Given the description of an element on the screen output the (x, y) to click on. 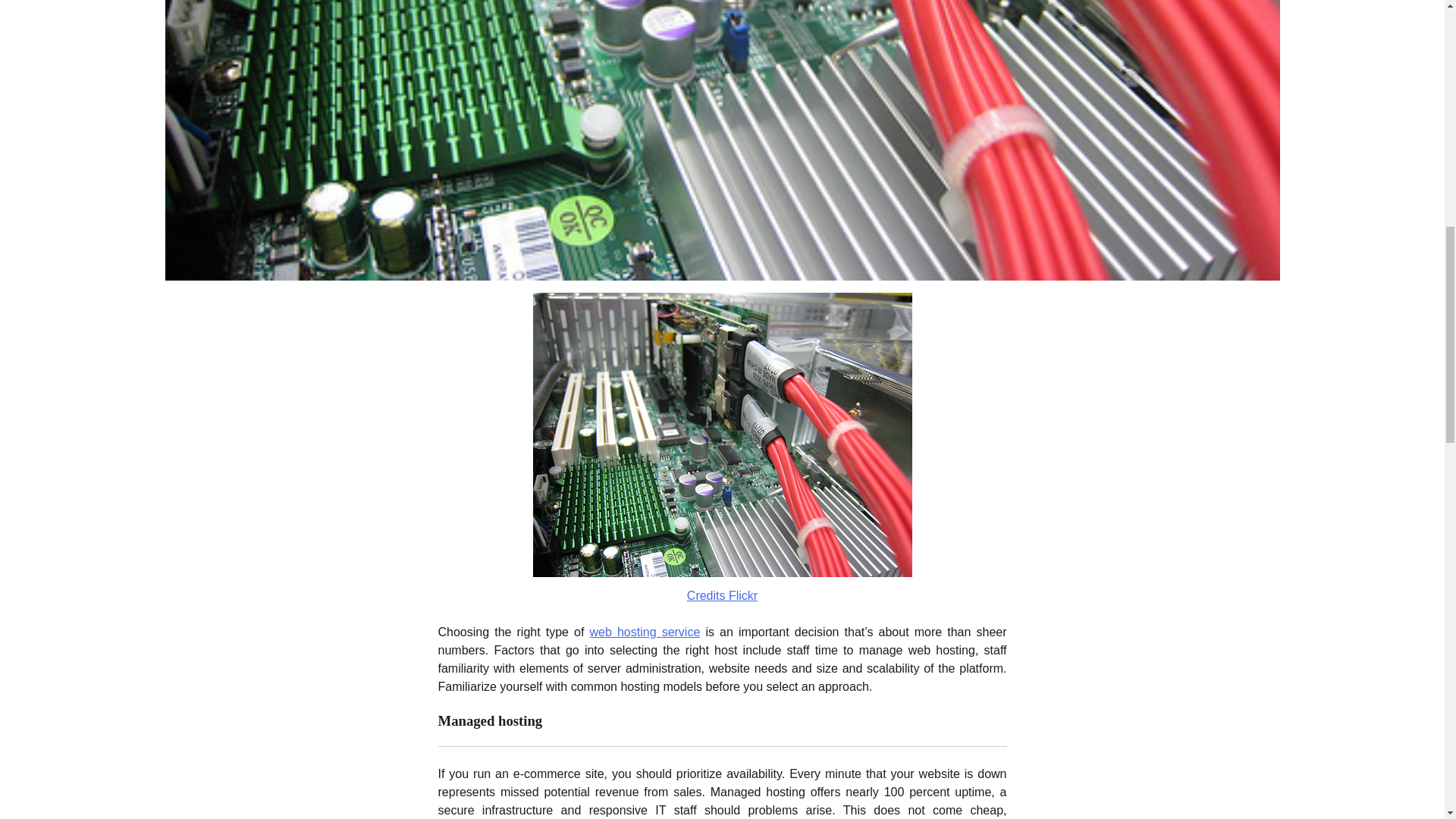
web hosting (721, 434)
Credits Flickr (722, 594)
web hosting service (644, 631)
